Given the description of an element on the screen output the (x, y) to click on. 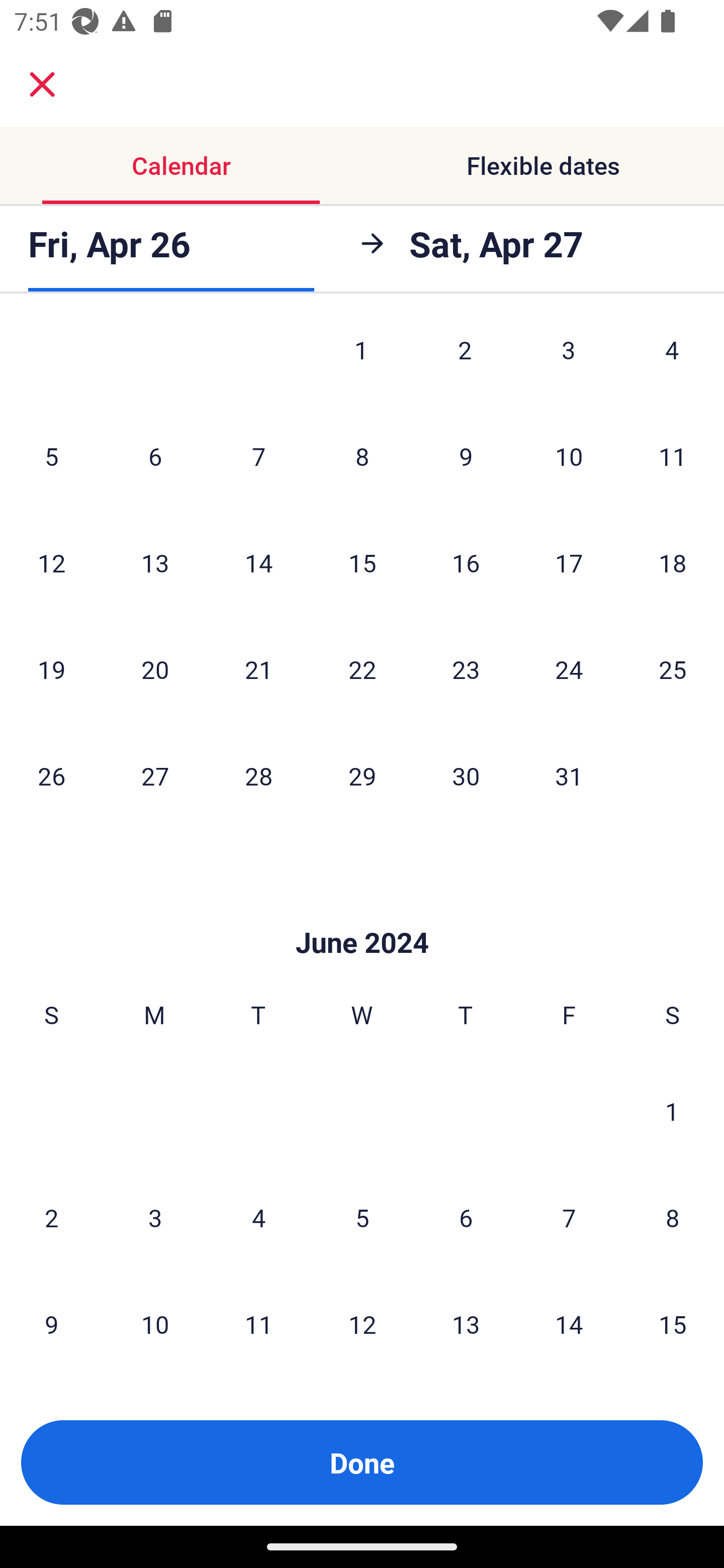
close. (42, 84)
Flexible dates (542, 164)
1 Wednesday, May 1, 2024 (361, 361)
2 Thursday, May 2, 2024 (464, 361)
3 Friday, May 3, 2024 (568, 361)
4 Saturday, May 4, 2024 (672, 361)
5 Sunday, May 5, 2024 (51, 456)
6 Monday, May 6, 2024 (155, 456)
7 Tuesday, May 7, 2024 (258, 456)
8 Wednesday, May 8, 2024 (362, 456)
9 Thursday, May 9, 2024 (465, 456)
10 Friday, May 10, 2024 (569, 456)
11 Saturday, May 11, 2024 (672, 456)
12 Sunday, May 12, 2024 (51, 562)
13 Monday, May 13, 2024 (155, 562)
14 Tuesday, May 14, 2024 (258, 562)
15 Wednesday, May 15, 2024 (362, 562)
16 Thursday, May 16, 2024 (465, 562)
17 Friday, May 17, 2024 (569, 562)
18 Saturday, May 18, 2024 (672, 562)
19 Sunday, May 19, 2024 (51, 669)
20 Monday, May 20, 2024 (155, 669)
21 Tuesday, May 21, 2024 (258, 669)
22 Wednesday, May 22, 2024 (362, 669)
23 Thursday, May 23, 2024 (465, 669)
24 Friday, May 24, 2024 (569, 669)
25 Saturday, May 25, 2024 (672, 669)
26 Sunday, May 26, 2024 (51, 775)
27 Monday, May 27, 2024 (155, 775)
28 Tuesday, May 28, 2024 (258, 775)
29 Wednesday, May 29, 2024 (362, 775)
30 Thursday, May 30, 2024 (465, 775)
31 Friday, May 31, 2024 (569, 775)
Skip to Done (362, 912)
1 Saturday, June 1, 2024 (672, 1110)
2 Sunday, June 2, 2024 (51, 1217)
3 Monday, June 3, 2024 (155, 1217)
4 Tuesday, June 4, 2024 (258, 1217)
5 Wednesday, June 5, 2024 (362, 1217)
6 Thursday, June 6, 2024 (465, 1217)
7 Friday, June 7, 2024 (569, 1217)
8 Saturday, June 8, 2024 (672, 1217)
9 Sunday, June 9, 2024 (51, 1324)
10 Monday, June 10, 2024 (155, 1324)
11 Tuesday, June 11, 2024 (258, 1324)
12 Wednesday, June 12, 2024 (362, 1324)
13 Thursday, June 13, 2024 (465, 1324)
14 Friday, June 14, 2024 (569, 1324)
15 Saturday, June 15, 2024 (672, 1324)
Done (361, 1462)
